Given the description of an element on the screen output the (x, y) to click on. 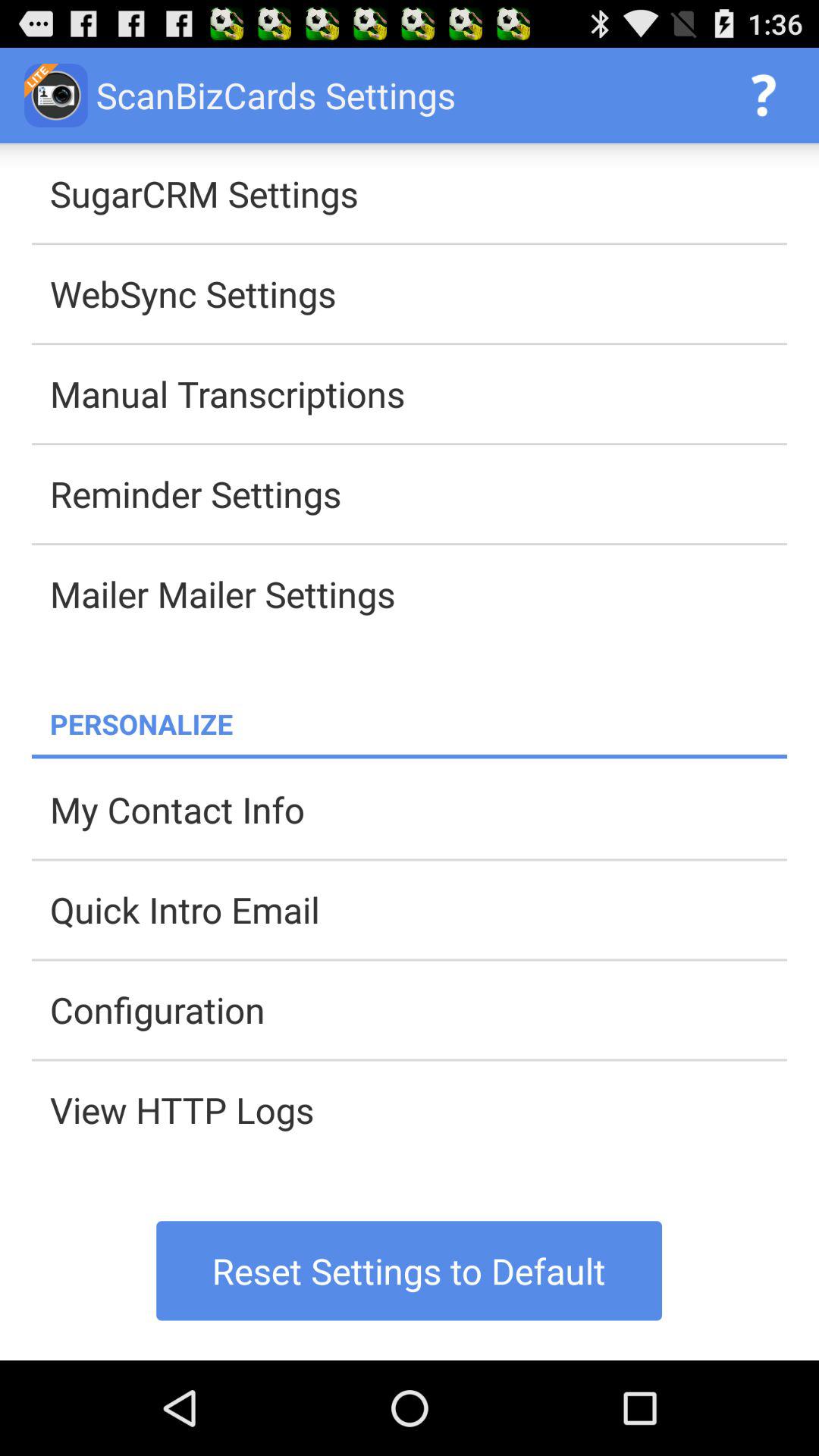
choose the icon below view http logs item (409, 1270)
